Given the description of an element on the screen output the (x, y) to click on. 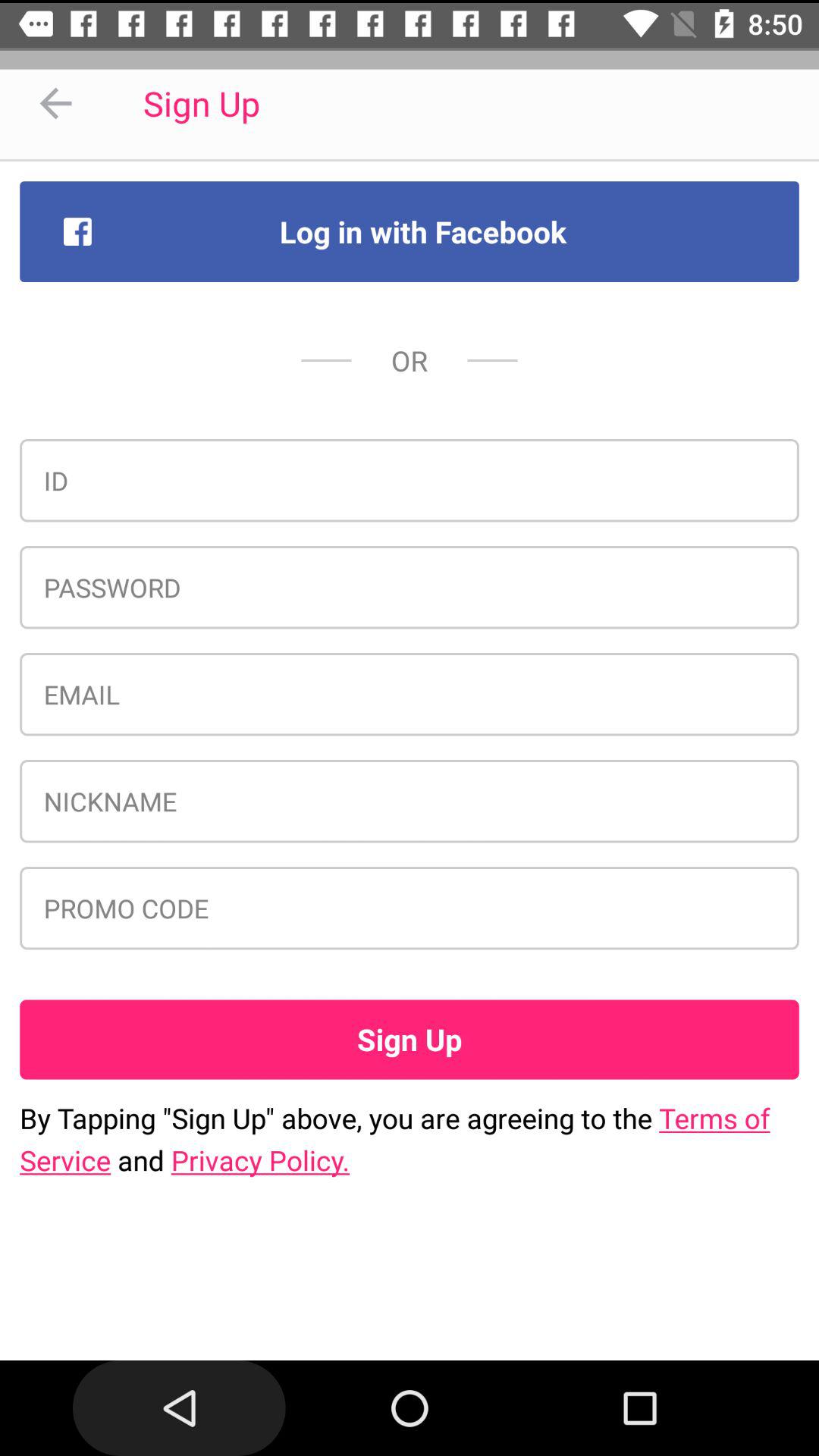
flip to the by tapping sign icon (409, 1139)
